Given the description of an element on the screen output the (x, y) to click on. 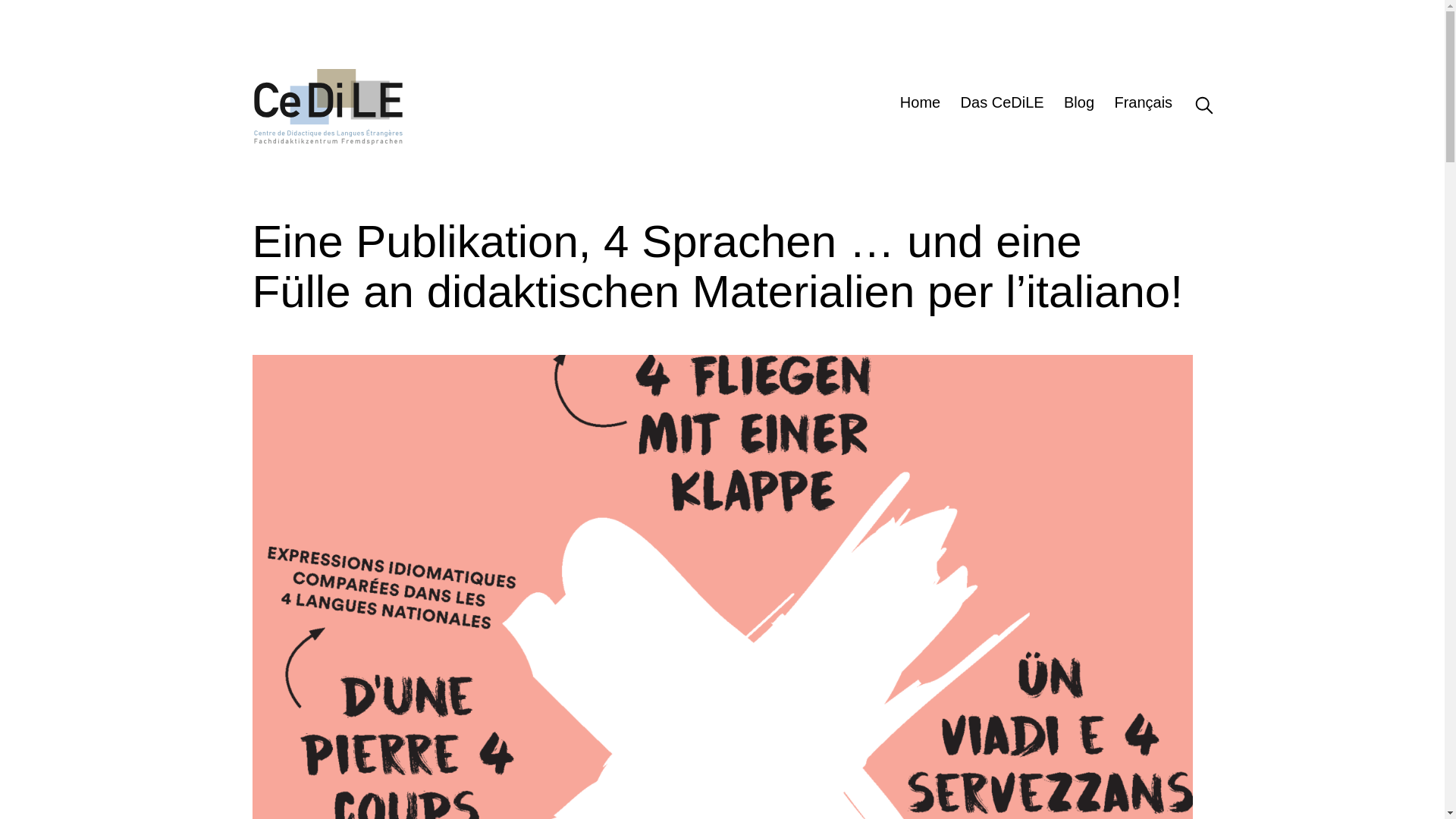
Das CeDiLE Element type: text (1001, 105)
Blog Element type: text (1079, 105)
Suche Element type: text (1191, 105)
Home Element type: text (920, 105)
